Given the description of an element on the screen output the (x, y) to click on. 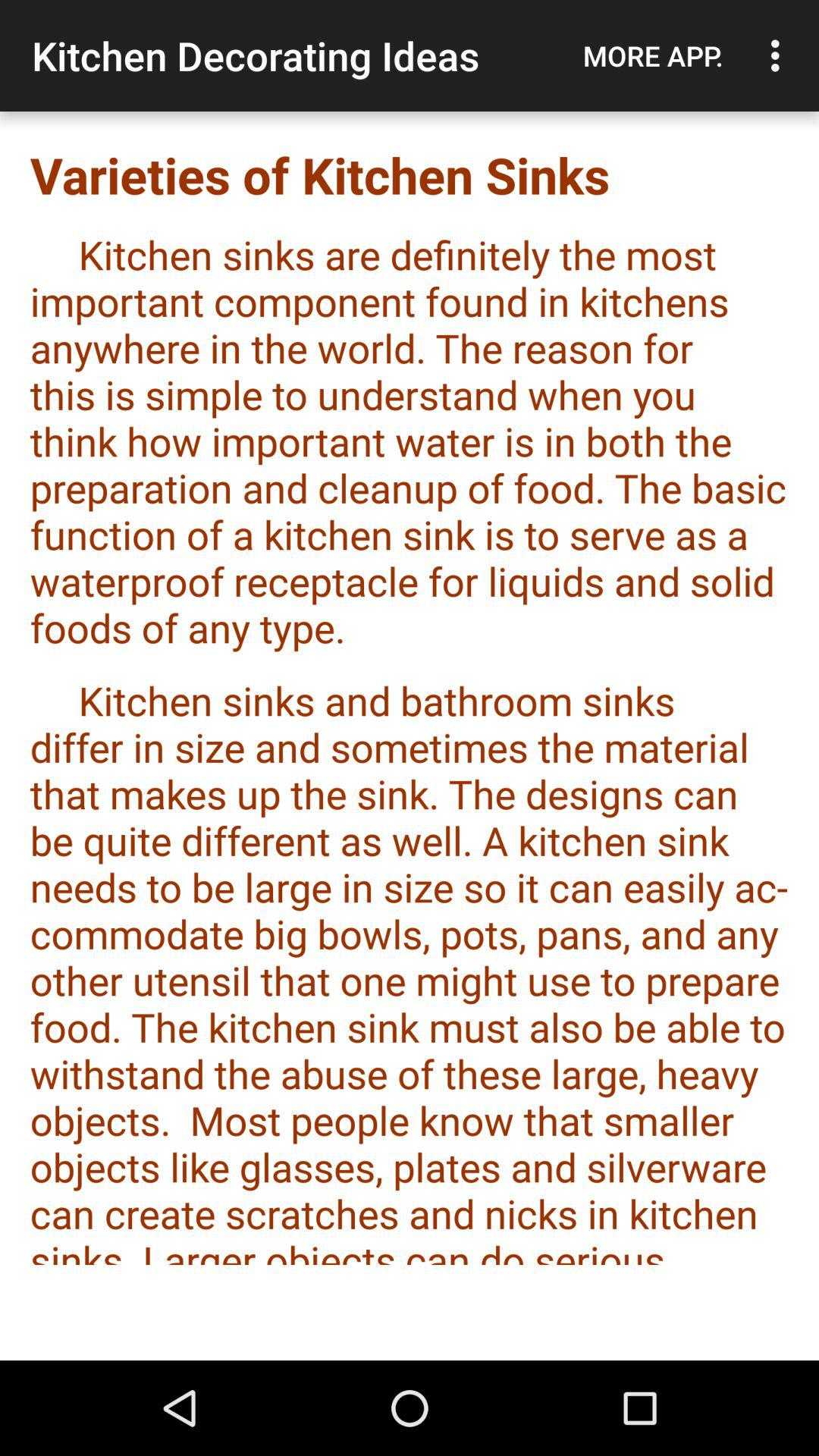
tap item above the varieties of kitchen app (653, 55)
